Given the description of an element on the screen output the (x, y) to click on. 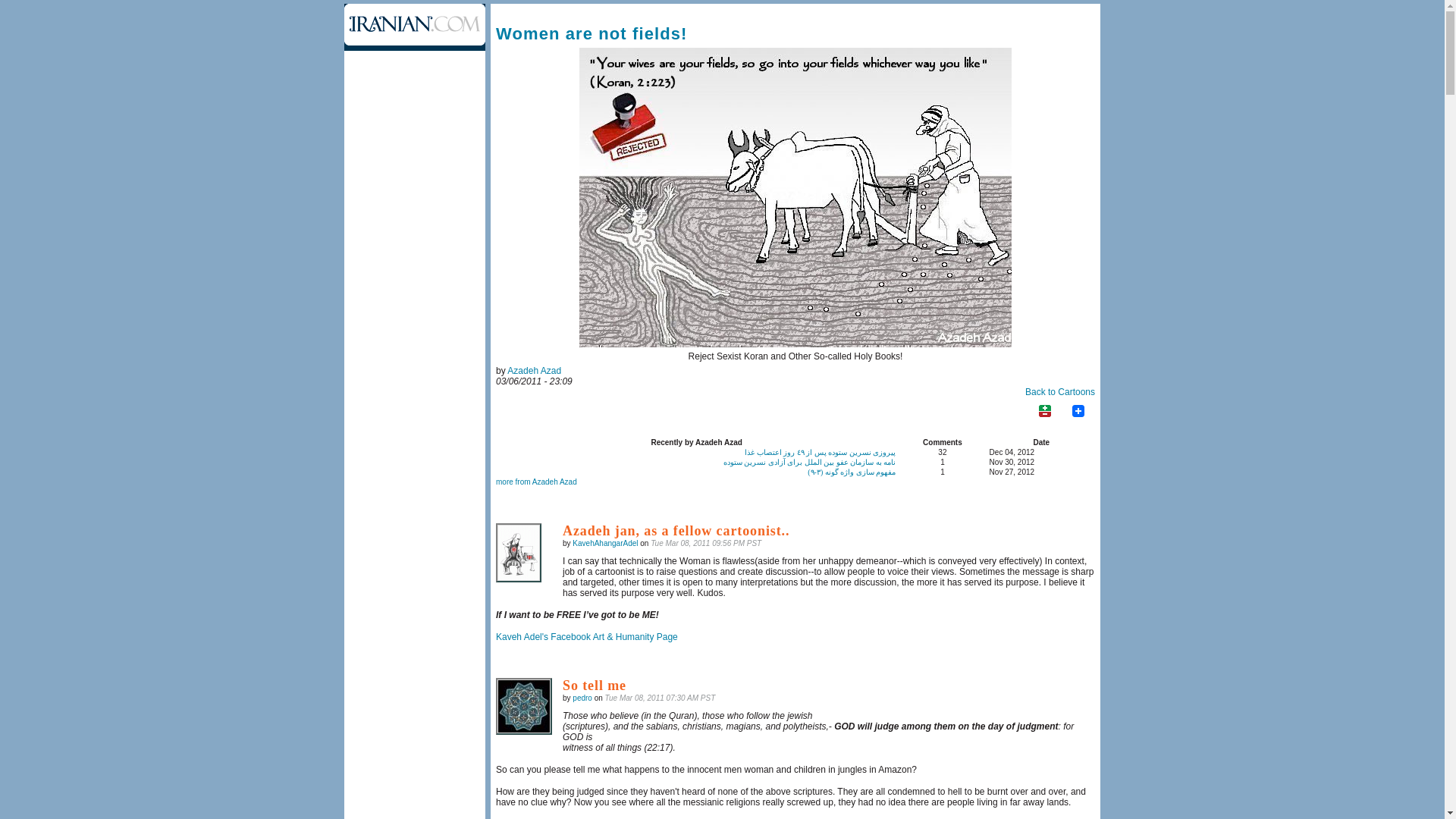
Azadeh Azad (533, 370)
pedro (523, 706)
pedro (582, 697)
HOME (413, 27)
View user profile. (604, 542)
more from Azadeh Azad (536, 481)
View user profile. (533, 370)
back to cartoons (795, 197)
View user profile. (582, 697)
KavehAhangarAdel (604, 542)
Back to Cartoons (1059, 391)
